Given the description of an element on the screen output the (x, y) to click on. 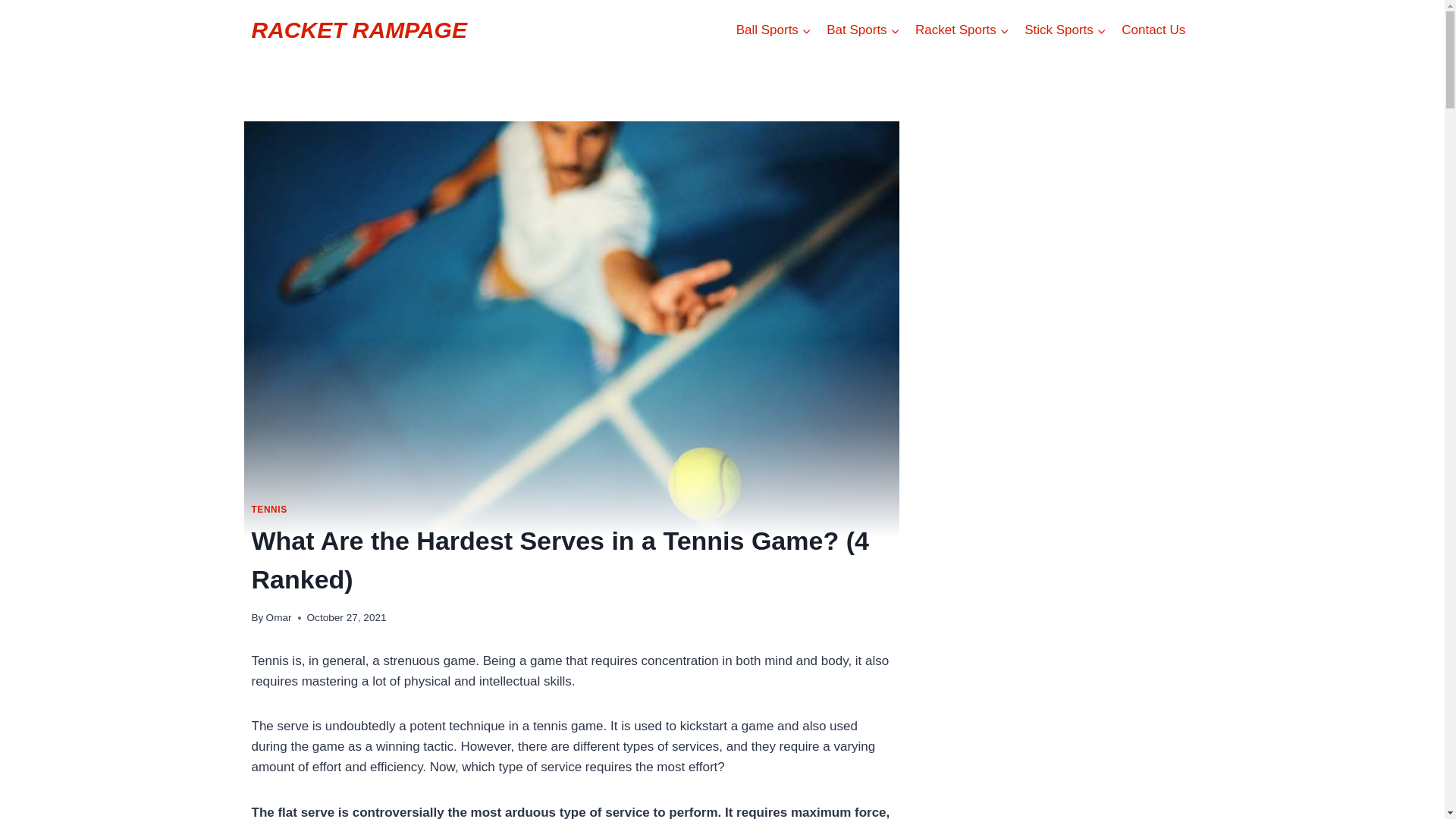
RACKET RAMPAGE (359, 30)
Bat Sports (862, 30)
Omar (279, 617)
Contact Us (1152, 30)
TENNIS (268, 509)
Racket Sports (961, 30)
Ball Sports (773, 30)
Stick Sports (1064, 30)
